Given the description of an element on the screen output the (x, y) to click on. 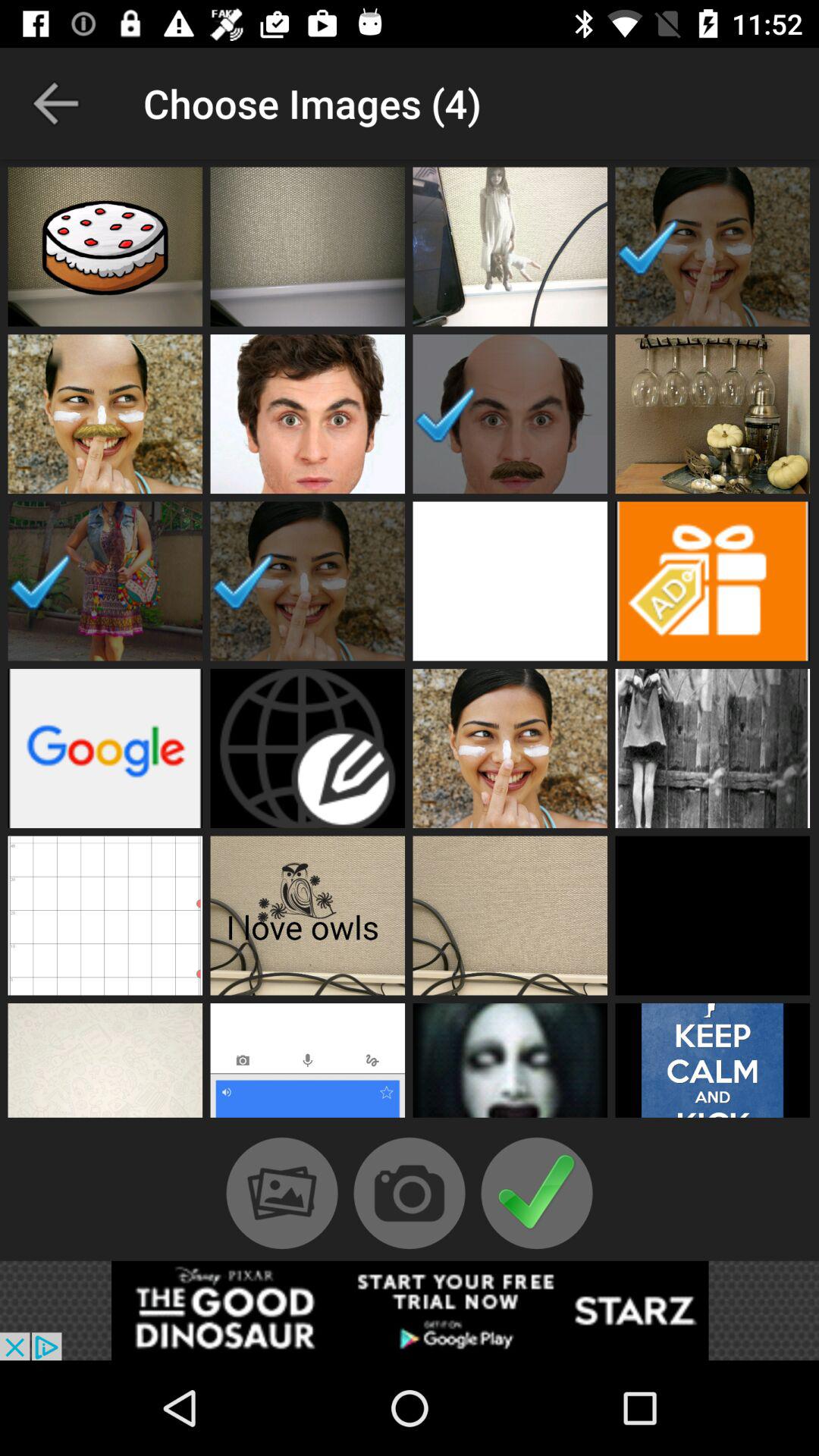
open image (104, 246)
